Given the description of an element on the screen output the (x, y) to click on. 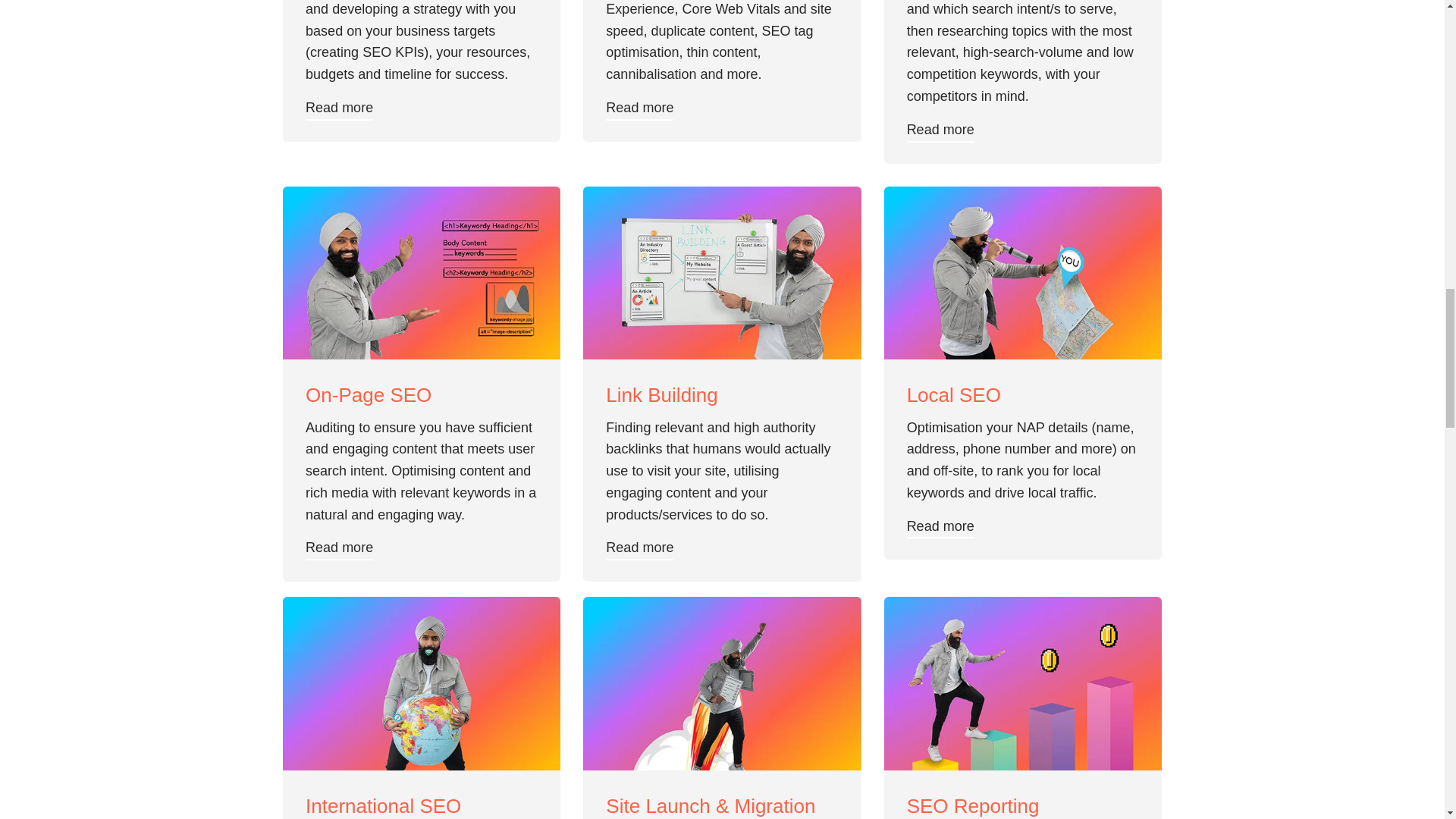
Local SEO (1022, 395)
Read more (638, 107)
Link Building (721, 395)
Read more (638, 547)
Read more (940, 526)
On-Page SEO (421, 395)
International SEO (421, 806)
Read more (940, 129)
Read more (338, 547)
Read more (338, 107)
